Given the description of an element on the screen output the (x, y) to click on. 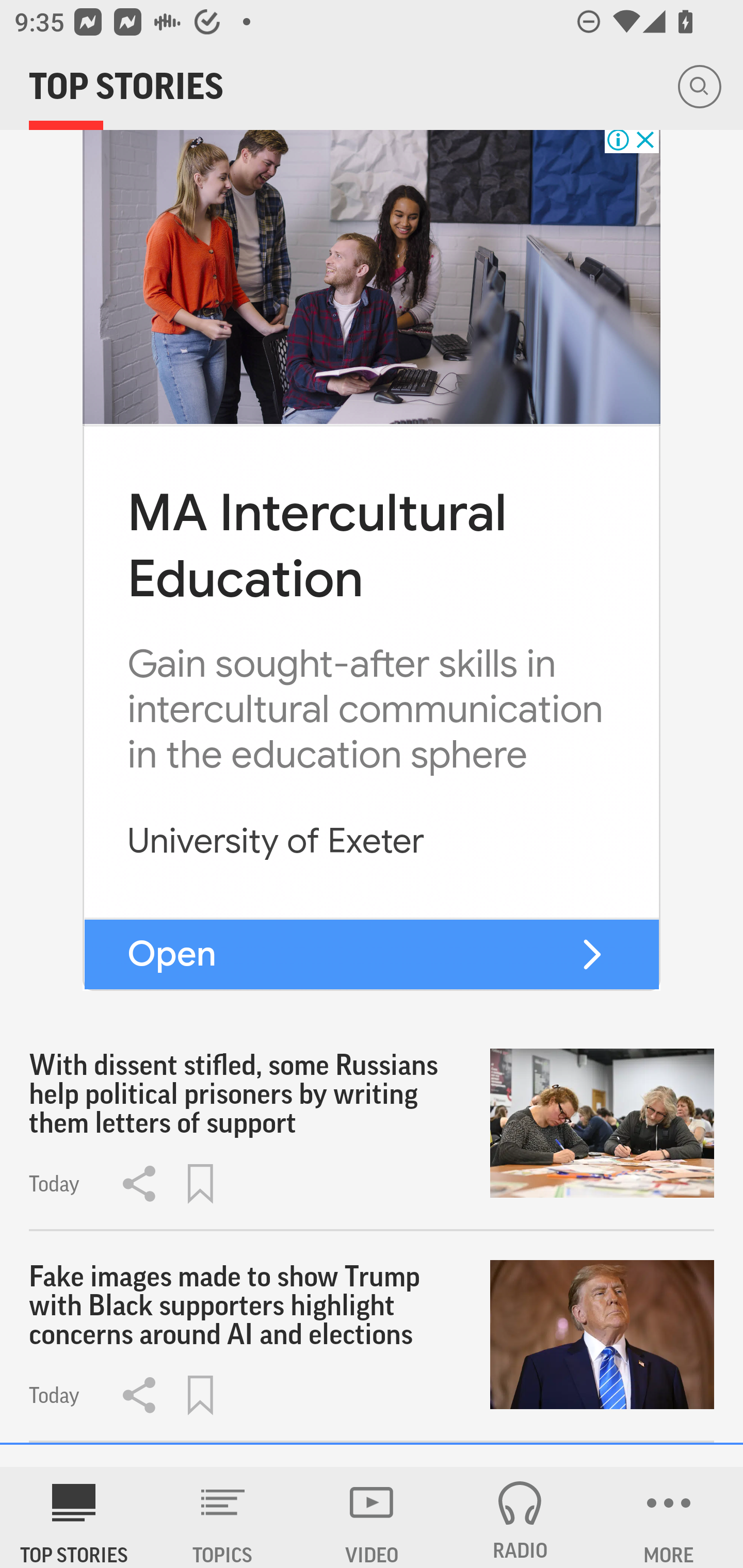
University of Exeter (275, 839)
Open (171, 953)
AP News TOP STORIES (74, 1517)
TOPICS (222, 1517)
VIDEO (371, 1517)
RADIO (519, 1517)
MORE (668, 1517)
